Given the description of an element on the screen output the (x, y) to click on. 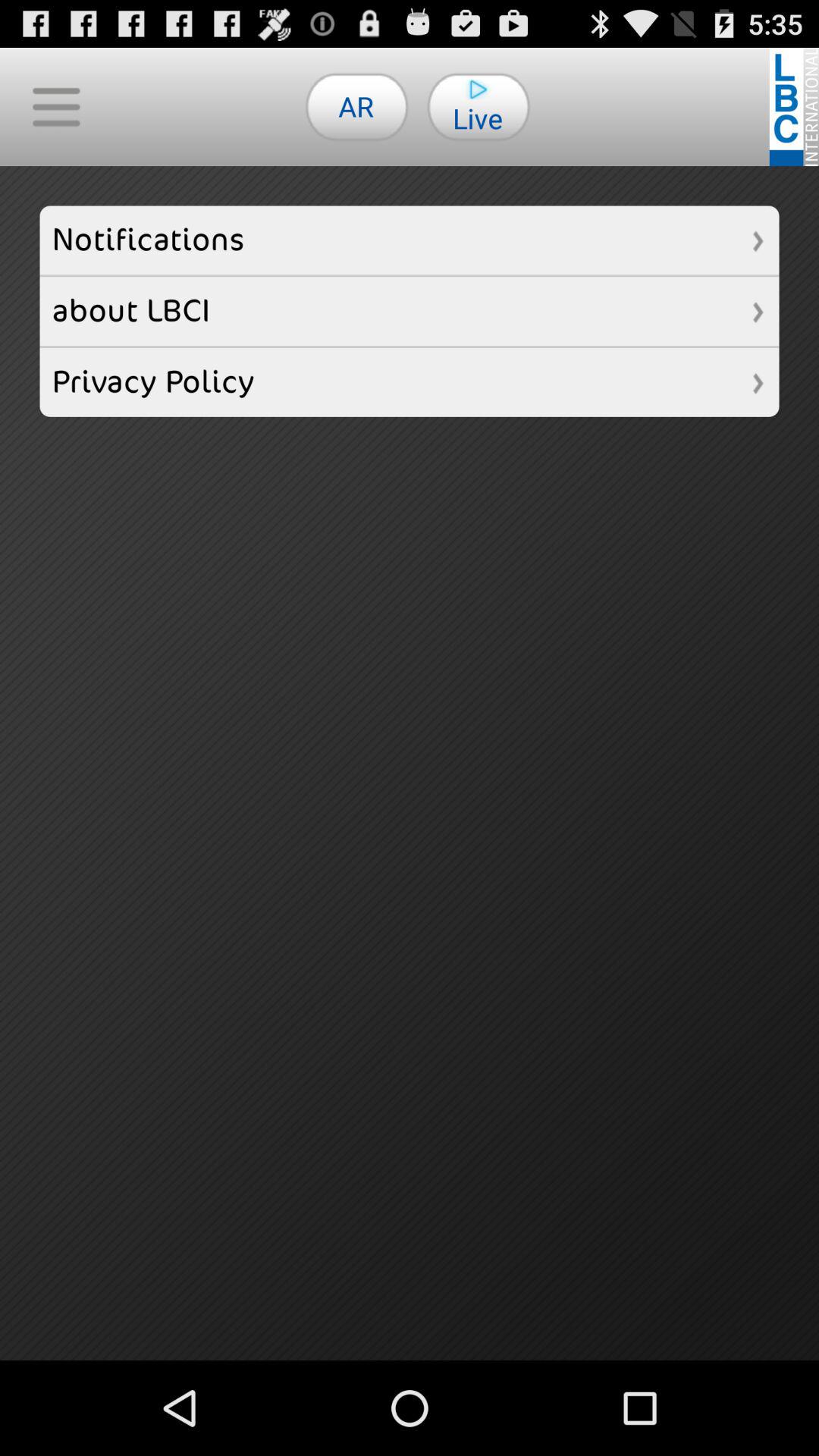
open the button next to the ar item (55, 106)
